Given the description of an element on the screen output the (x, y) to click on. 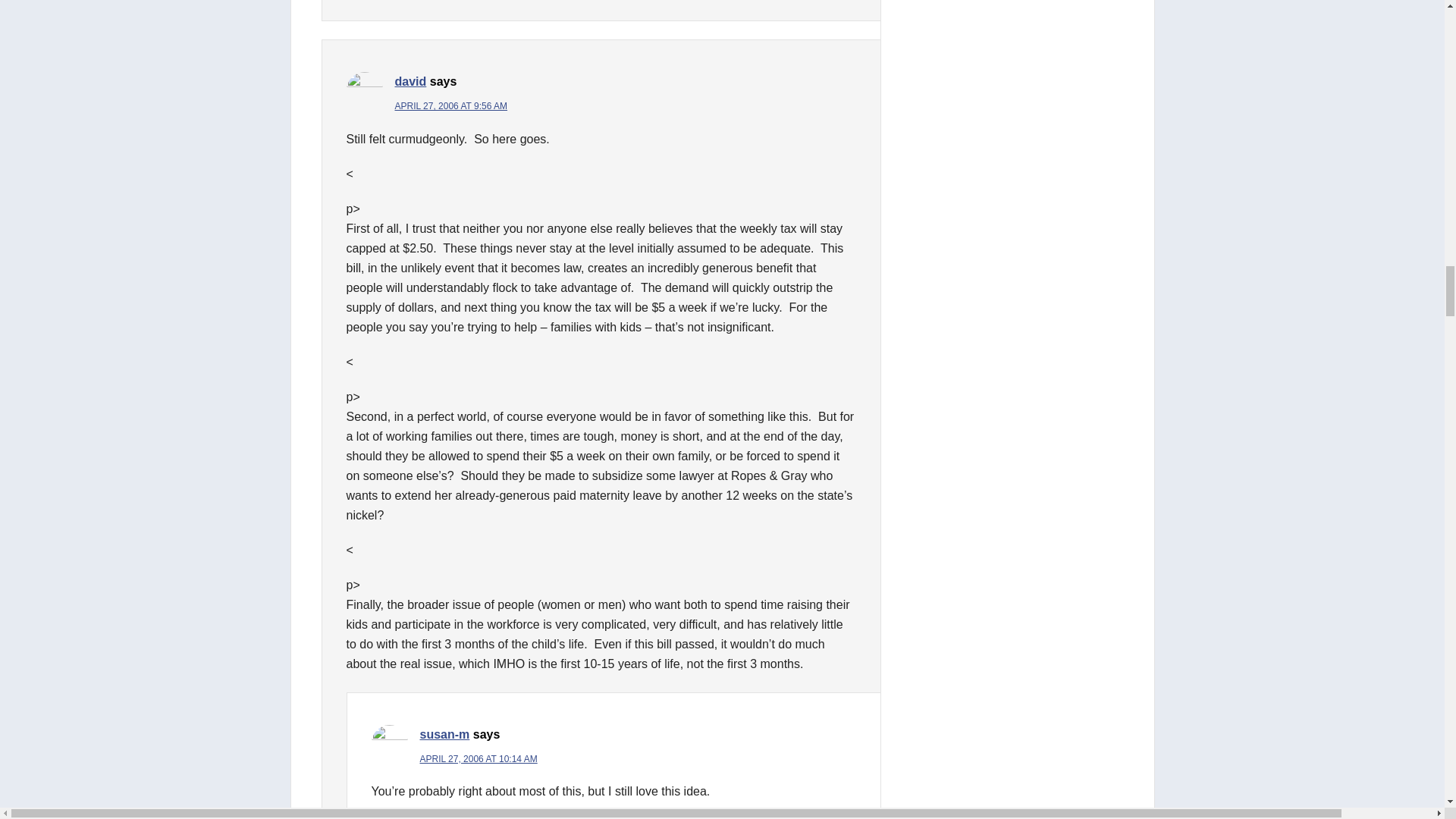
david (410, 81)
APRIL 27, 2006 AT 10:14 AM (478, 758)
APRIL 27, 2006 AT 9:56 AM (450, 105)
susan-m (445, 734)
